Given the description of an element on the screen output the (x, y) to click on. 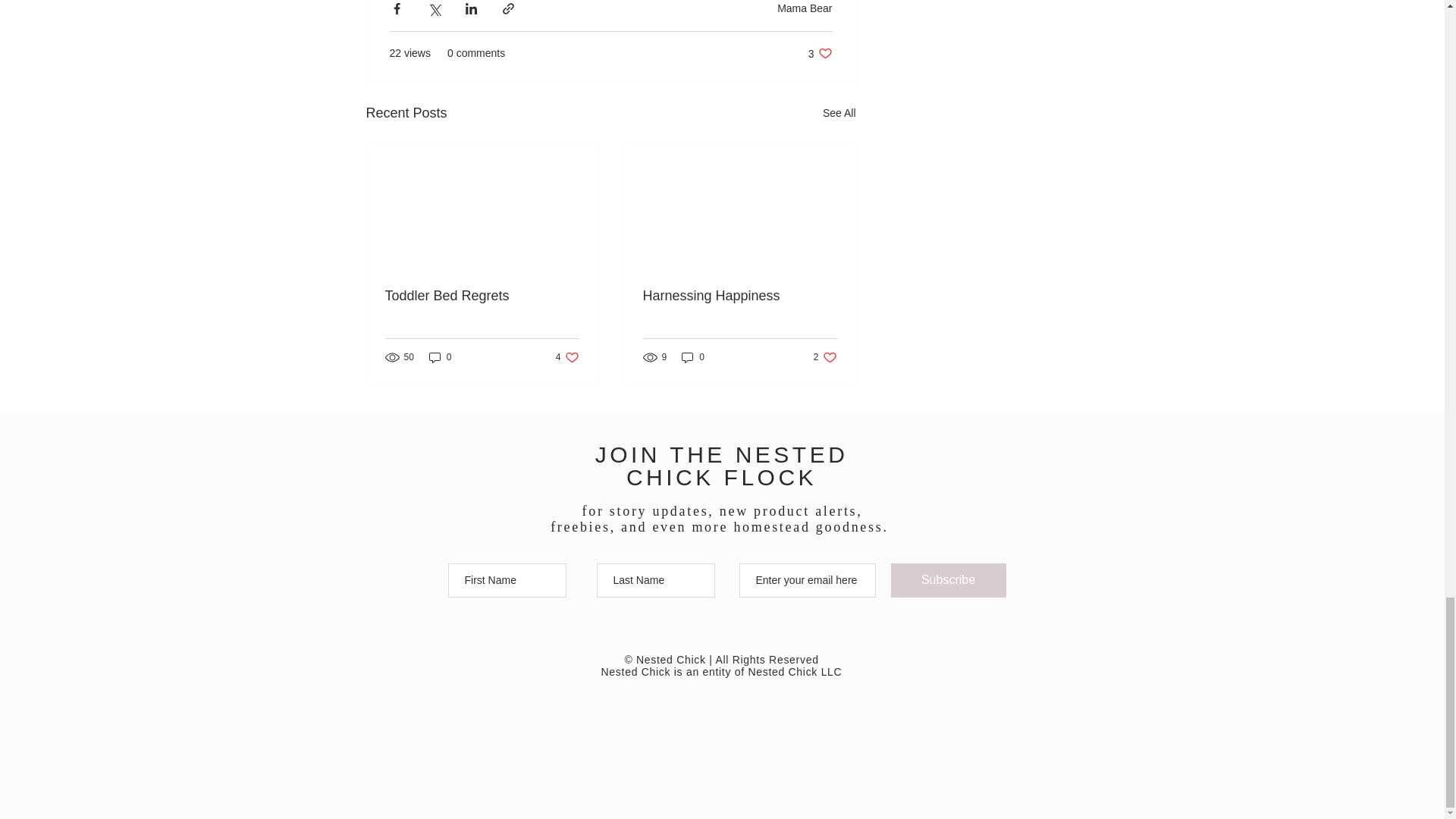
Toddler Bed Regrets (820, 52)
0 (482, 295)
See All (440, 357)
Subscribe (839, 113)
Harnessing Happiness (825, 357)
0 (947, 580)
Mama Bear (567, 357)
